Given the description of an element on the screen output the (x, y) to click on. 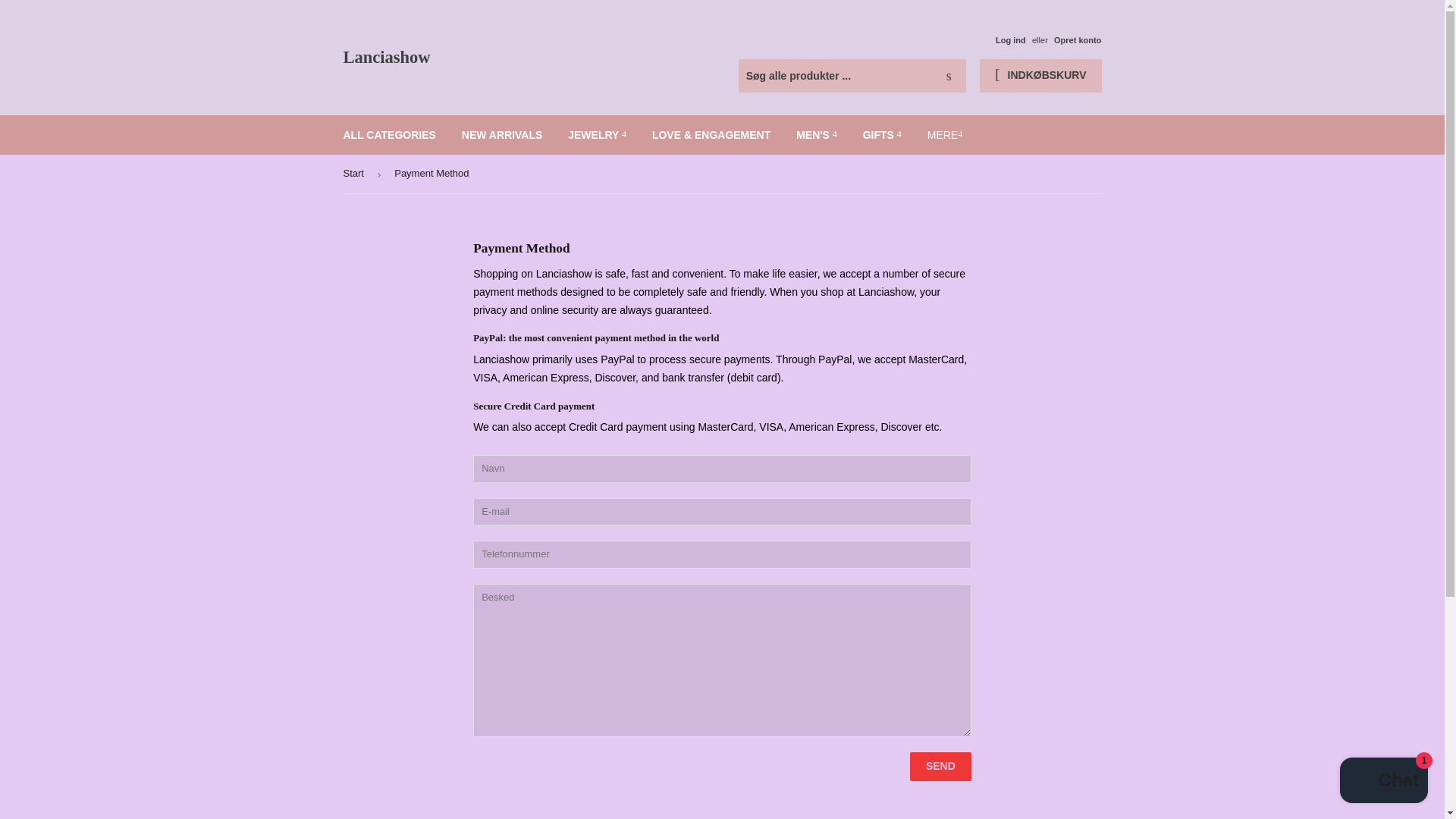
Shopify-webshopchat (1383, 781)
Log ind (1010, 40)
Send (940, 766)
Lanciashow (532, 57)
Opret konto (1078, 40)
